Given the description of an element on the screen output the (x, y) to click on. 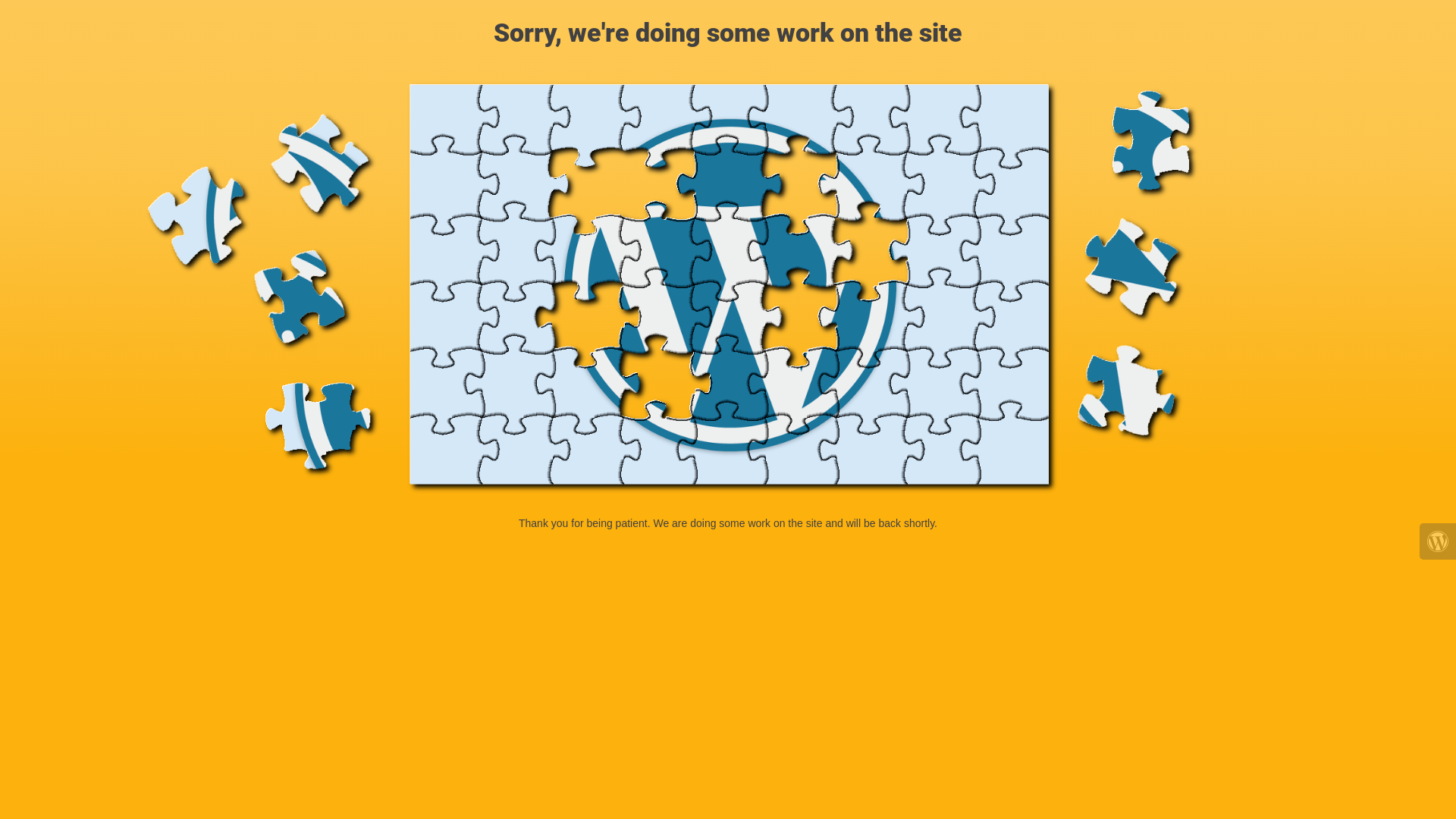
We're putting together a new site for you Element type: hover (727, 287)
